Given the description of an element on the screen output the (x, y) to click on. 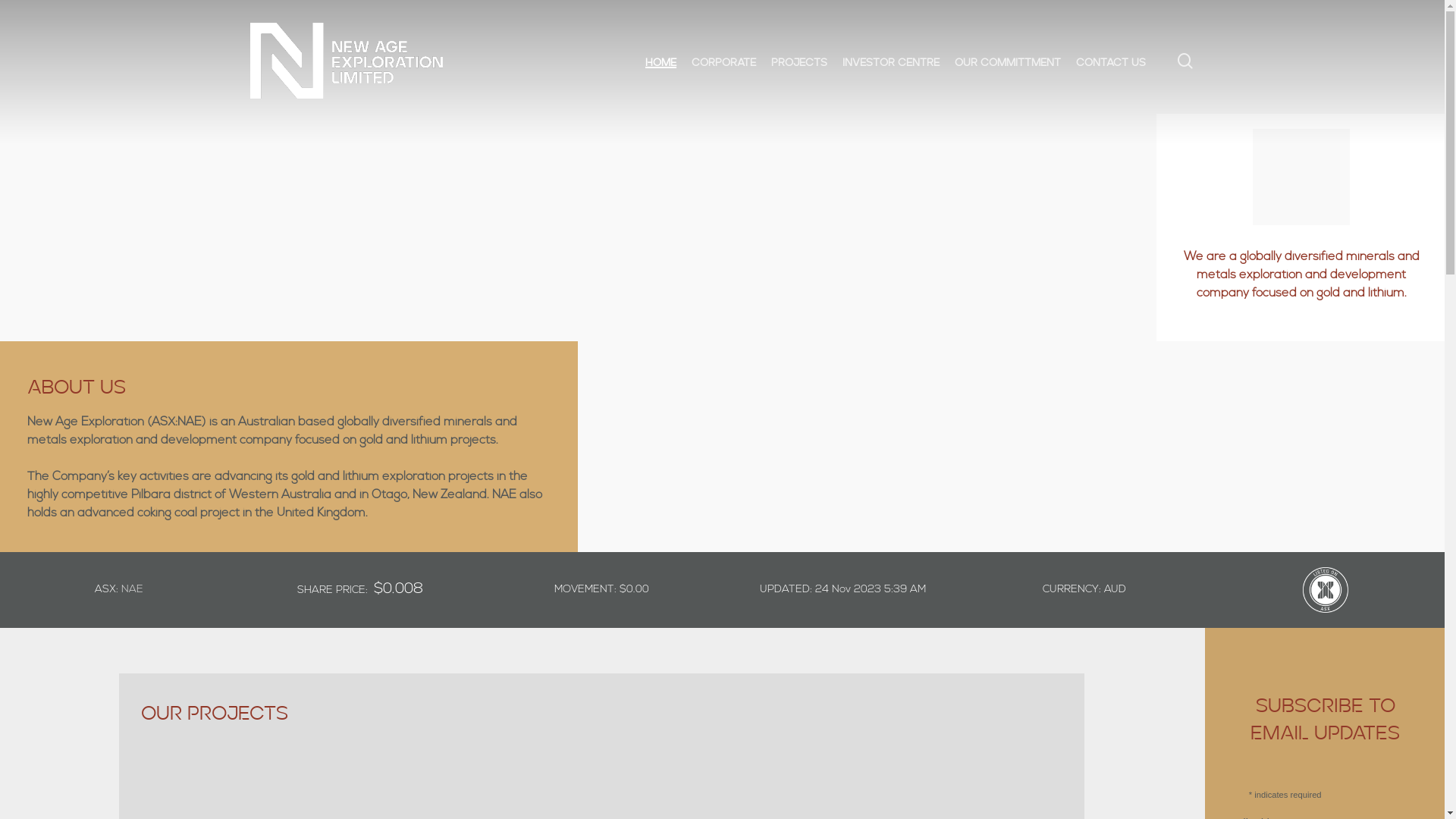
search Element type: text (1185, 61)
Corporate Element type: text (723, 60)
Projects Element type: text (799, 60)
Our Committment Element type: text (1007, 60)
Contact Us Element type: text (1110, 60)
Home Element type: text (660, 60)
NAE Element type: text (132, 589)
Investor Centre Element type: text (890, 60)
